Given the description of an element on the screen output the (x, y) to click on. 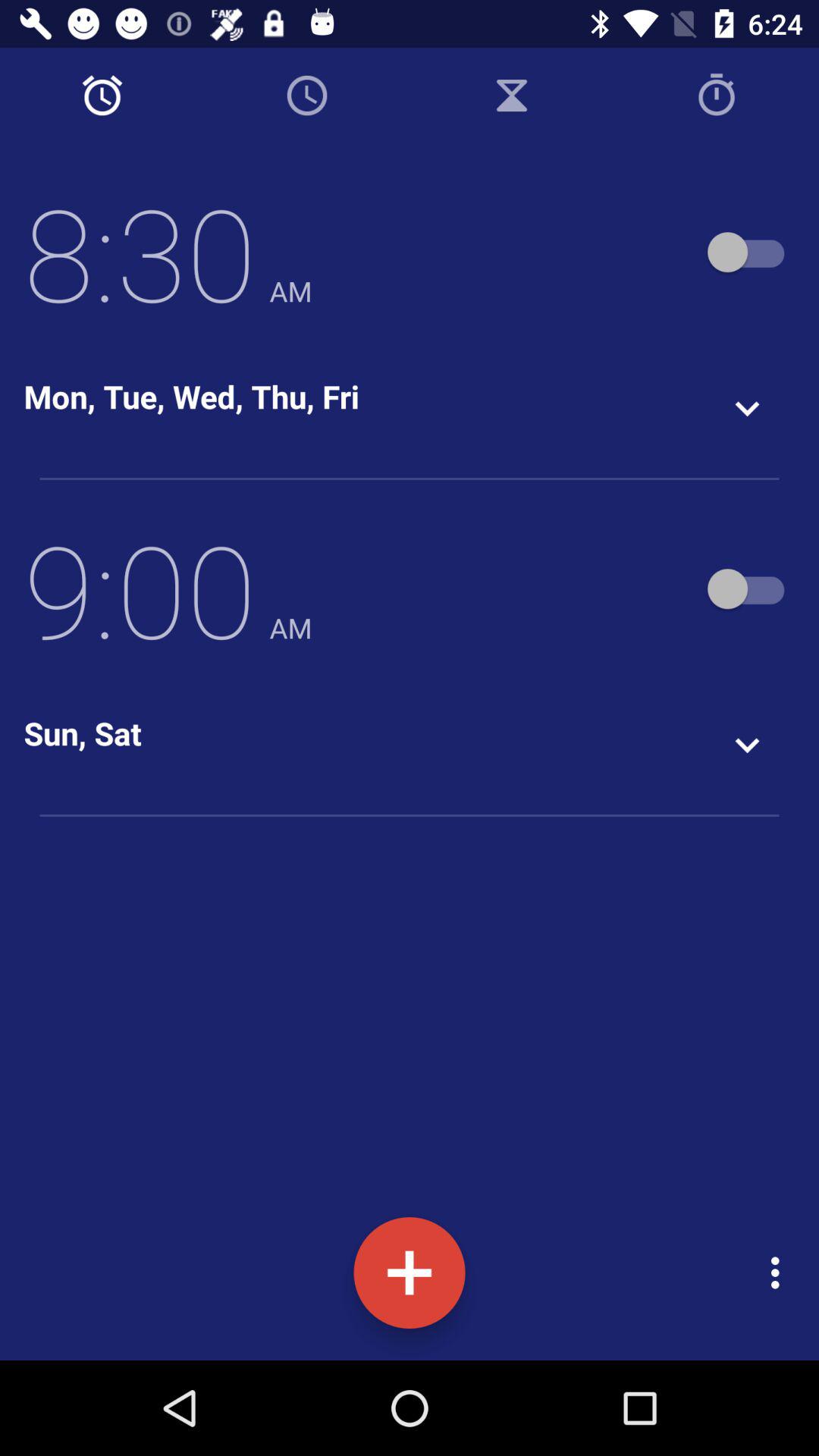
choose the sun, sat icon (82, 732)
